Given the description of an element on the screen output the (x, y) to click on. 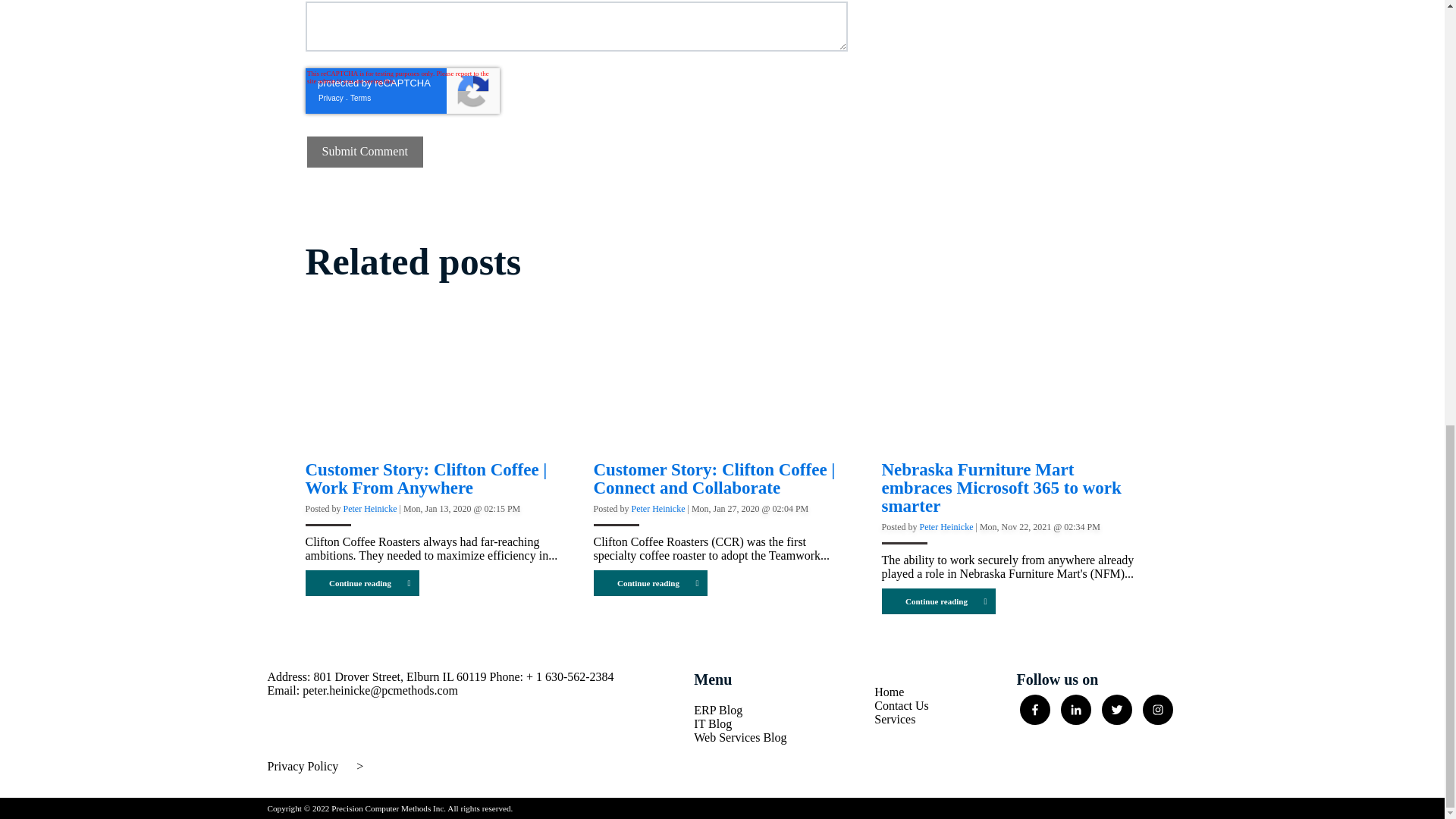
Submit Comment (363, 151)
Submit Comment (363, 151)
reCAPTCHA (401, 90)
Privacy Policy (301, 766)
